Given the description of an element on the screen output the (x, y) to click on. 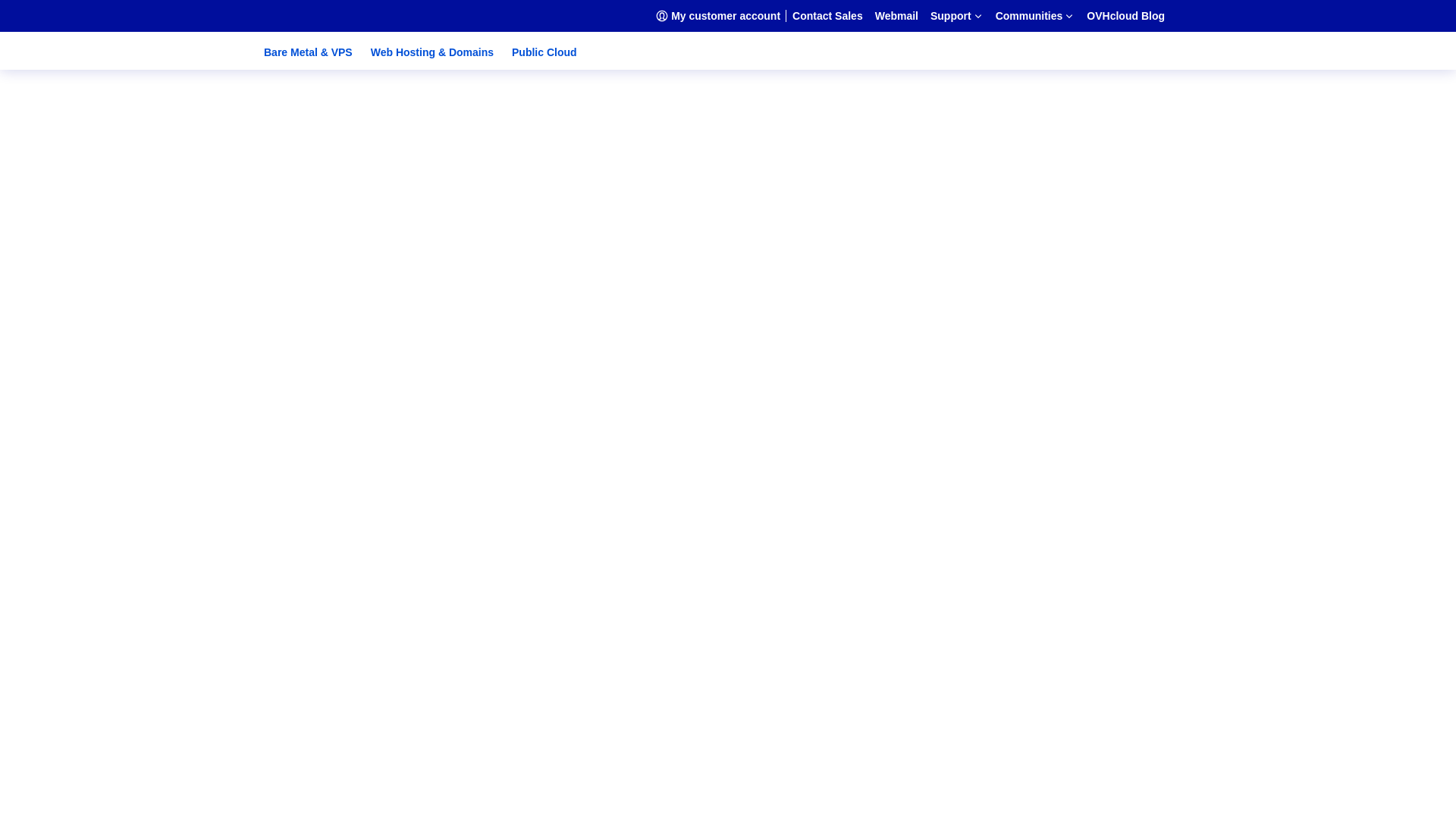
Learn Element type: text (80, 478)
Public Cloud Element type: text (544, 51)
Canada (en) [$] Element type: text (111, 718)
Use cases Element type: text (90, 464)
Communities Element type: text (71, 366)
Web Hosting & Domains Element type: text (431, 51)
Manifesto Element type: text (91, 505)
Case Studies Element type: text (97, 410)
Cloud Security Element type: text (102, 492)
Support Element type: text (60, 280)
Tutorials Element type: text (87, 451)
No pending order Element type: text (752, 189)
Contact Sales Element type: text (69, 250)
Help center Element type: text (94, 310)
Back to menu Element type: text (73, 553)
OVHcloud Blog Element type: text (76, 519)
Back to menu Element type: text (103, 296)
Support Levels Element type: text (103, 323)
United States [$] Element type: text (114, 745)
OVHcloud Stories Element type: text (111, 437)
Back to menu Element type: text (103, 174)
Webmail Element type: text (57, 264)
My customer account Element type: text (737, 227)
No pending ticket Element type: text (752, 203)
Canada (fr) [$] Element type: text (110, 731)
Maroc [Dhs] Element type: text (105, 786)
Open menu Element type: text (38, 13)
OVHcloud Videos Element type: text (111, 423)
Professional Services Element type: text (118, 337)
Polska [PLN] Element type: text (107, 663)
Notifications Element type: text (69, 158)
Guides Element type: text (83, 351)
Back to menu Element type: text (103, 382)
